Given the description of an element on the screen output the (x, y) to click on. 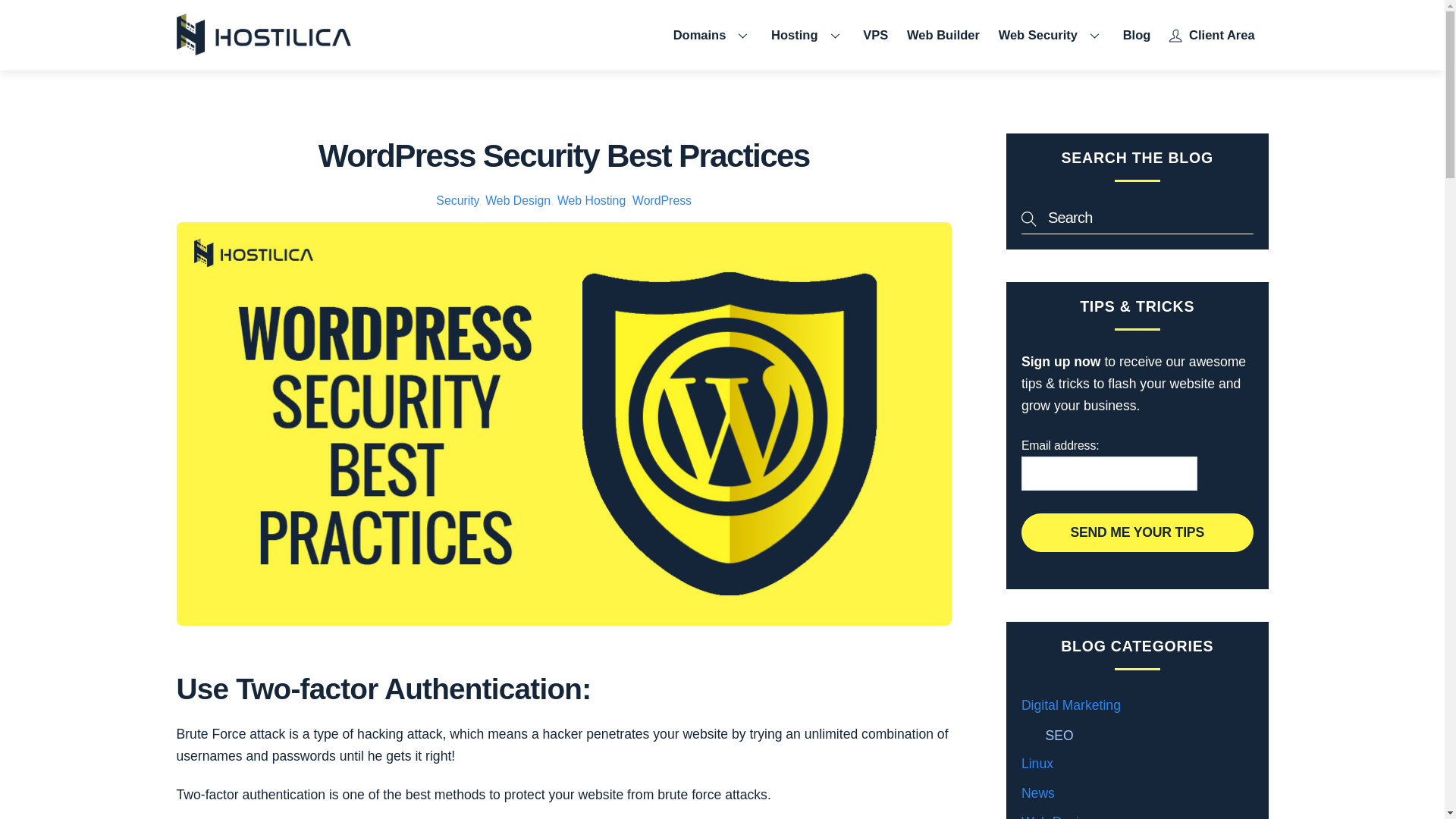
Web Design (517, 200)
Hosting (806, 35)
Send me your tips (1137, 532)
HOSTILICA (263, 48)
HOSTILICA (263, 34)
Web Builder (943, 35)
Web Security (1051, 35)
Search (1137, 217)
VPS (875, 35)
Blog (1136, 35)
Domains (712, 35)
Client Area (1211, 35)
Web Hosting (591, 200)
WordPress (661, 200)
